Given the description of an element on the screen output the (x, y) to click on. 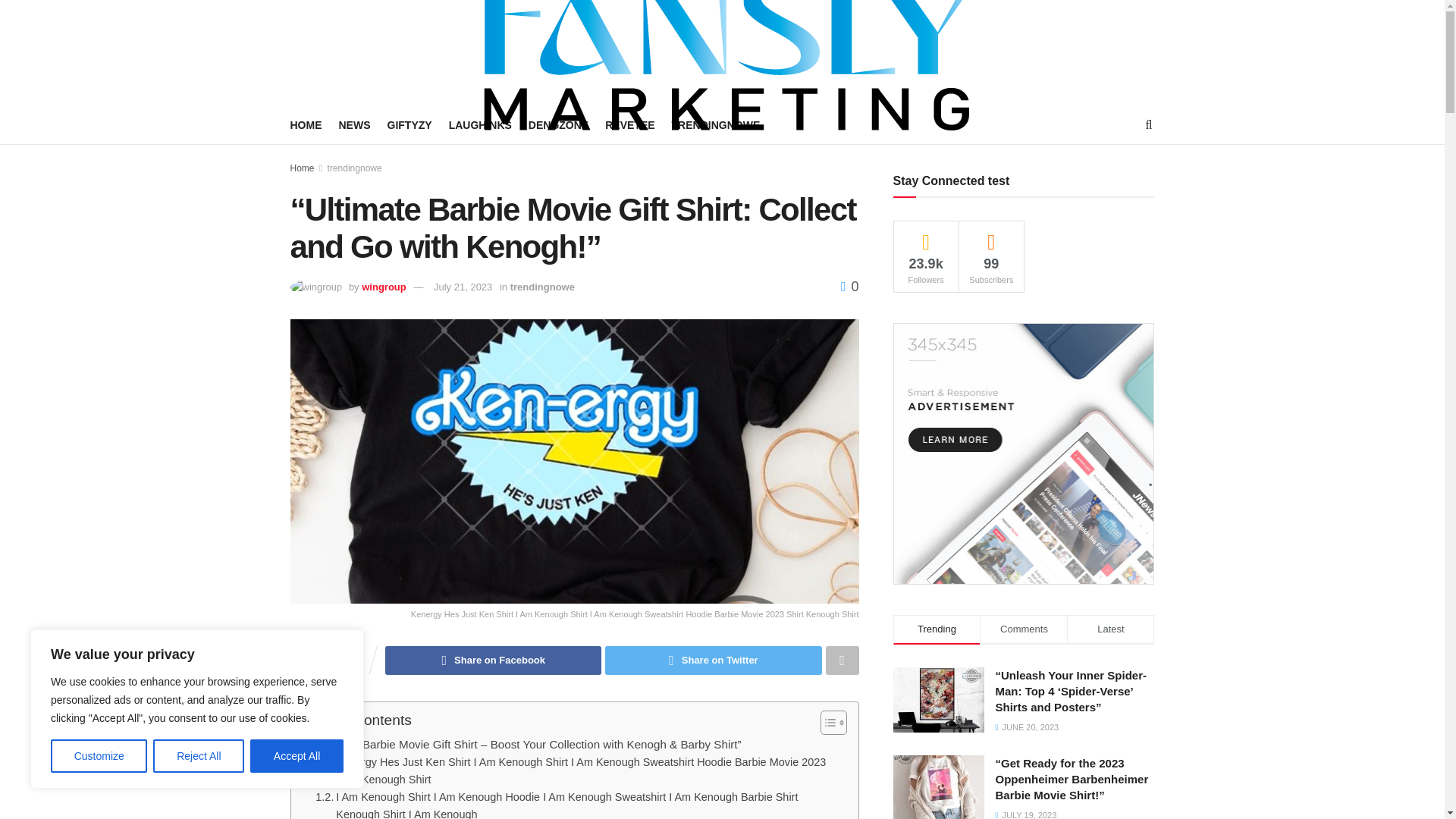
Reject All (198, 756)
Customize (98, 756)
REVETEE (629, 124)
GIFTYZY (408, 124)
TRENDINGNOWE (715, 124)
HOME (305, 124)
Accept All (296, 756)
trendingnowe (354, 167)
Home (301, 167)
DENGZONE (558, 124)
NEWS (353, 124)
LAUGHINKS (480, 124)
